Given the description of an element on the screen output the (x, y) to click on. 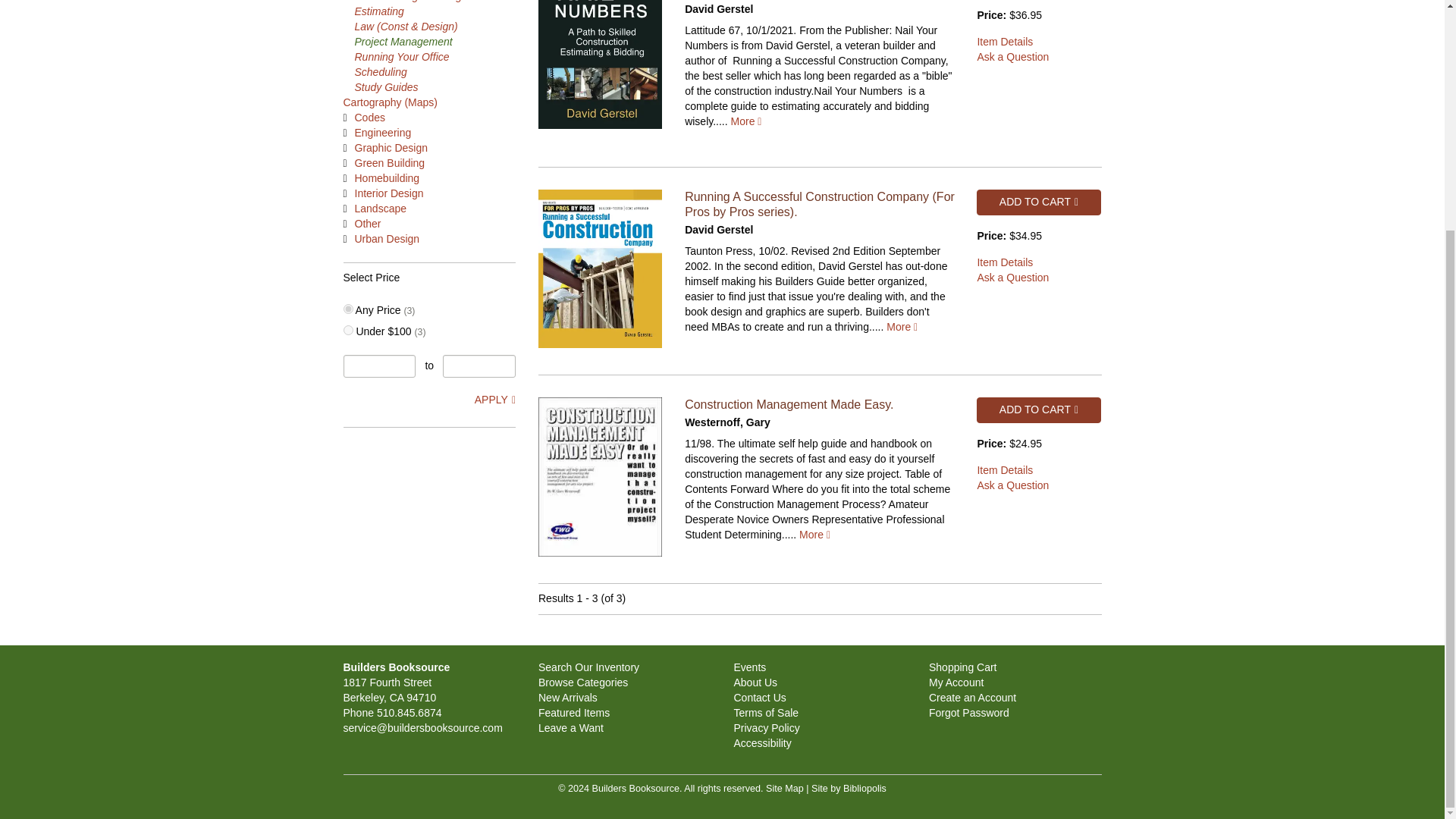
,99 (347, 329)
Site by Bibliopolis (848, 787)
, (347, 308)
